Given the description of an element on the screen output the (x, y) to click on. 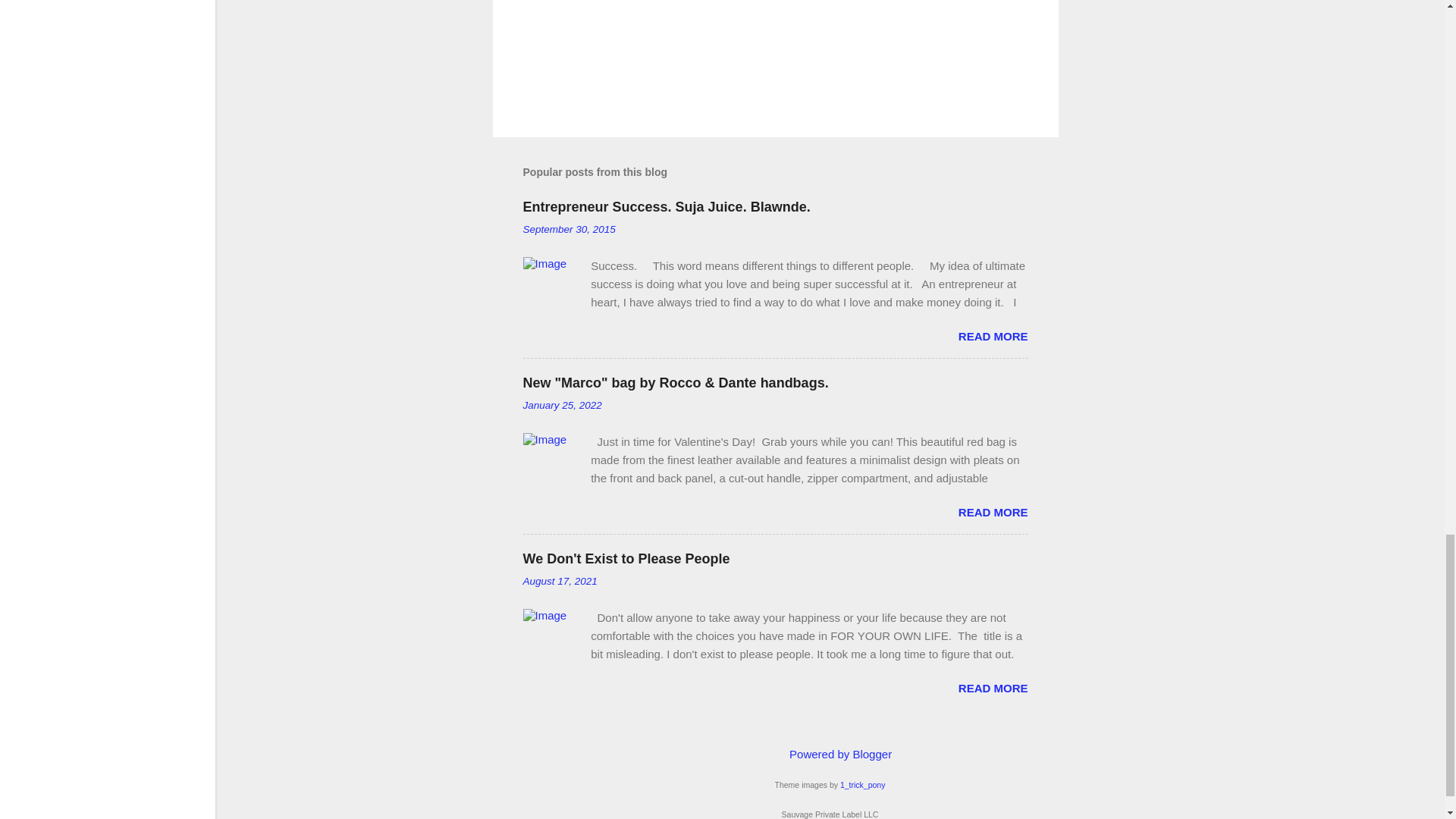
Entrepreneur Success. Suja Juice. Blawnde. (666, 206)
READ MORE (992, 687)
READ MORE (992, 512)
We Don't Exist to Please People (626, 558)
READ MORE (992, 336)
September 30, 2015 (568, 229)
August 17, 2021 (559, 581)
Powered by Blogger (829, 753)
January 25, 2022 (562, 405)
